Given the description of an element on the screen output the (x, y) to click on. 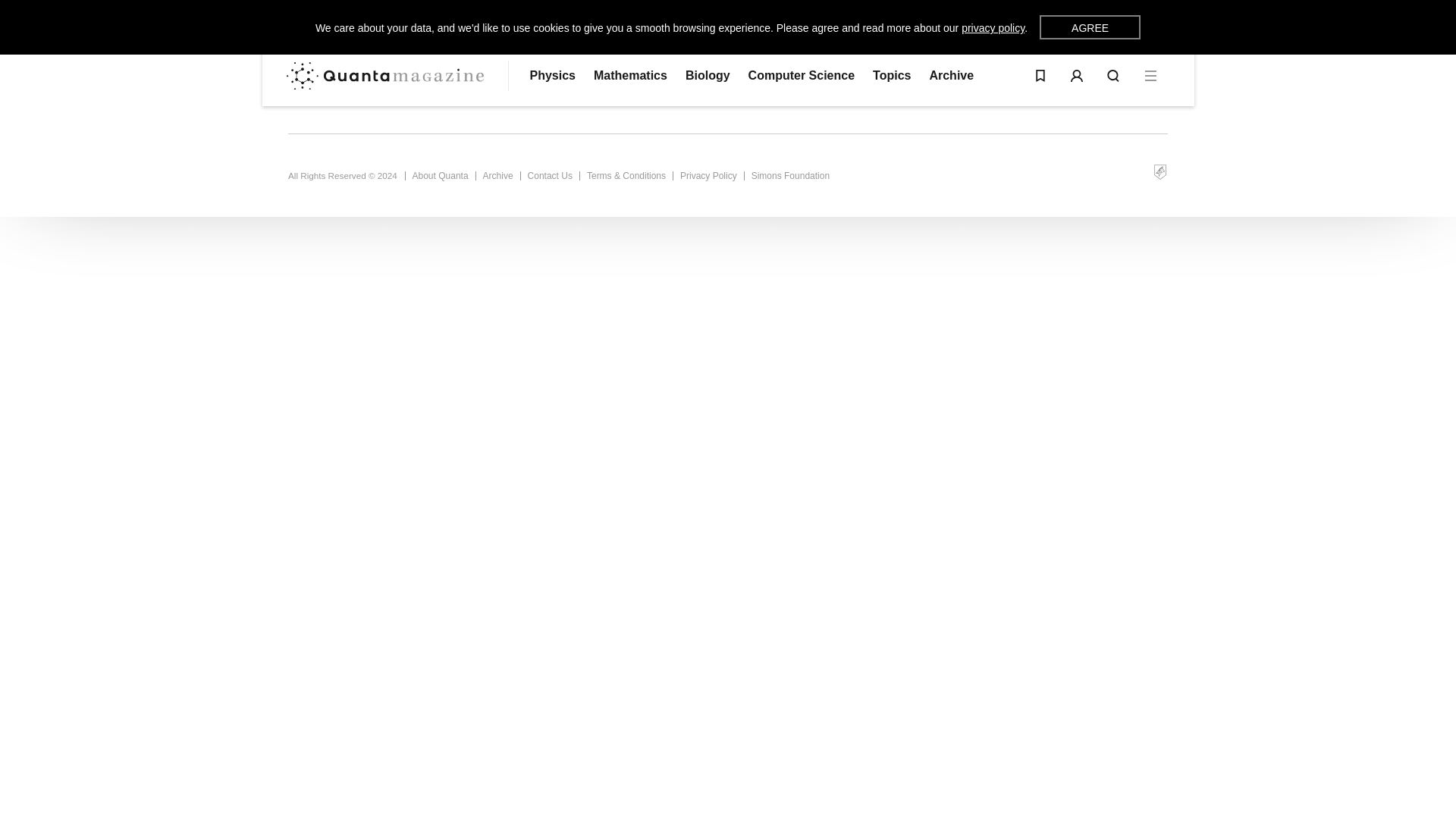
Computer Science (801, 75)
Saved articles (1039, 75)
Login (1076, 75)
Login (1076, 75)
Mathematics (630, 75)
Search (1112, 75)
Search (1112, 75)
AGREE (1089, 27)
Saved articles (1039, 75)
privacy policy (992, 28)
